Given the description of an element on the screen output the (x, y) to click on. 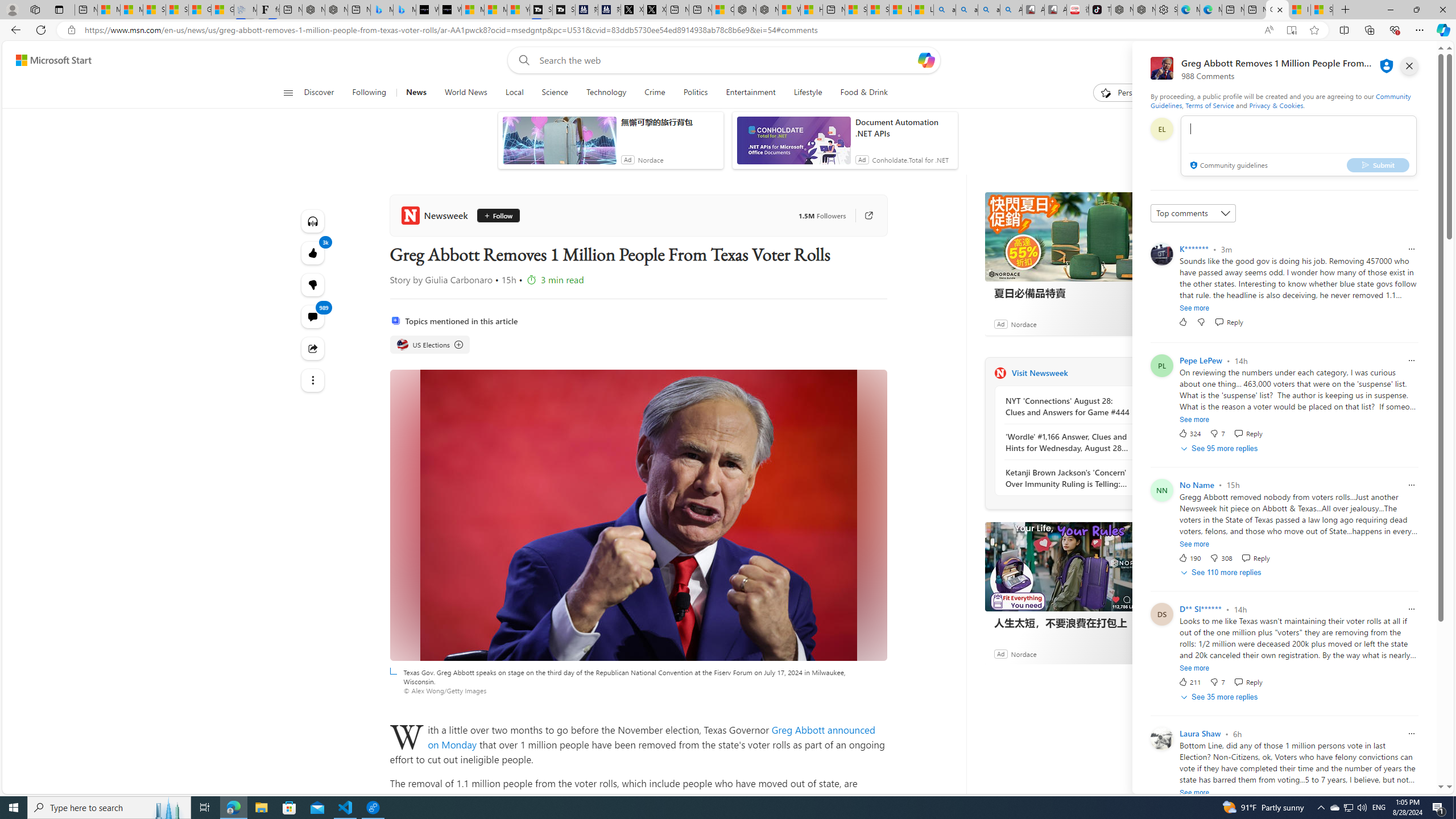
Enter your search term (726, 59)
Food & Drink (864, 92)
Like (1182, 321)
Entertainment (750, 92)
Lifestyle (807, 92)
Science (554, 92)
Submit (1377, 164)
